Given the description of an element on the screen output the (x, y) to click on. 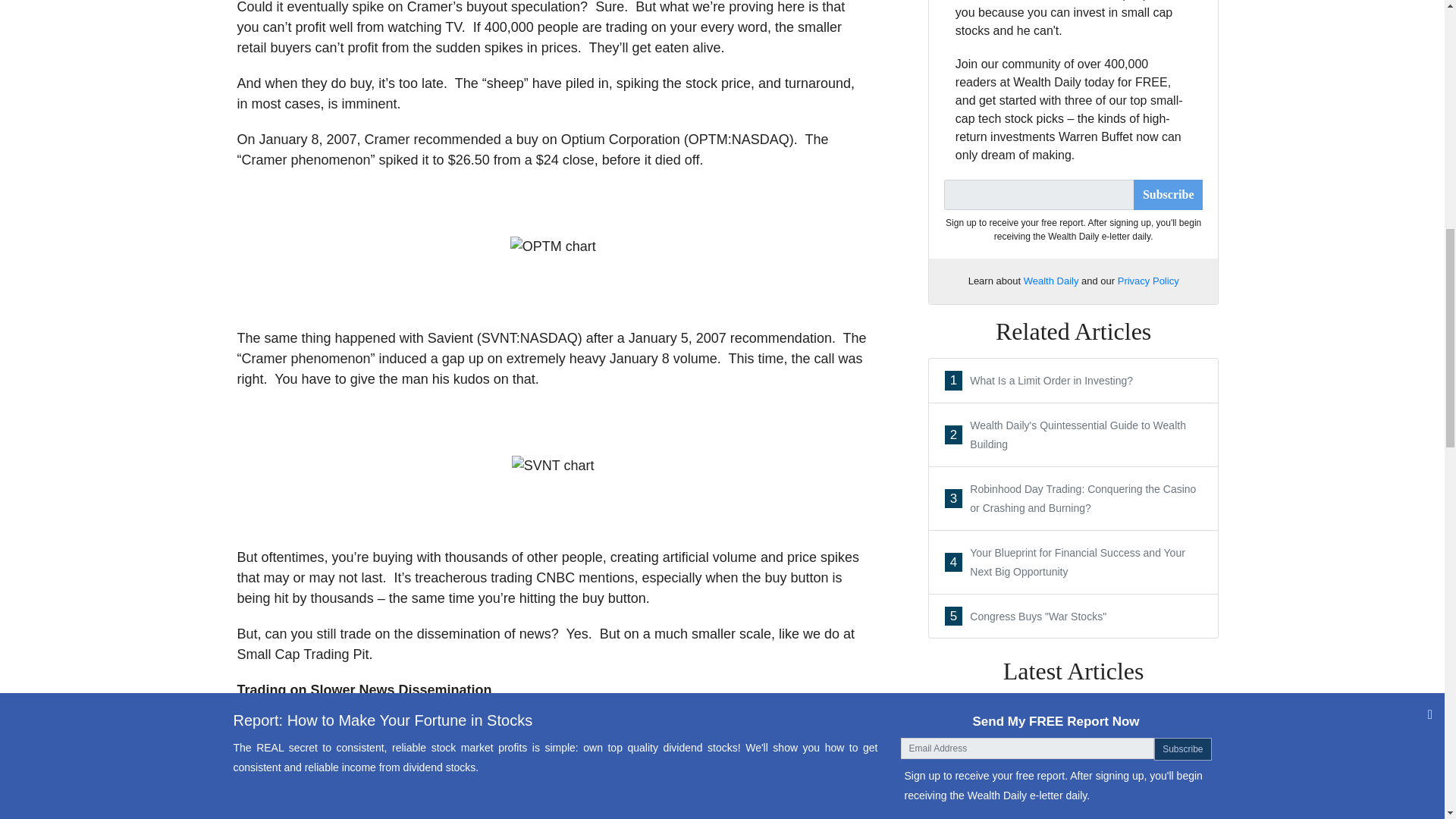
SVNT chart (553, 465)
OPTM chart (1074, 812)
Subscribe (1074, 380)
Privacy Policy (1074, 774)
